Given the description of an element on the screen output the (x, y) to click on. 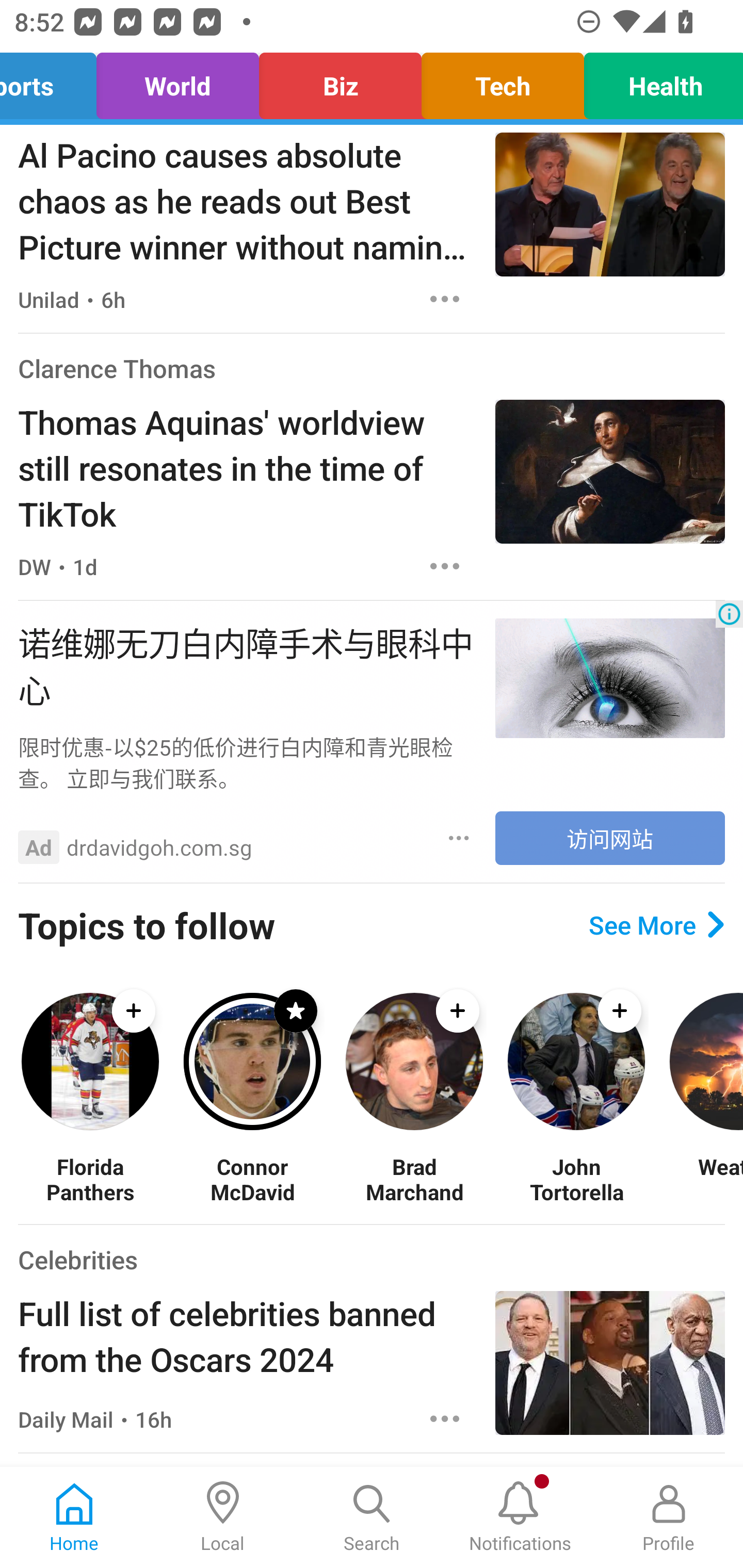
World (177, 81)
Biz (340, 81)
Tech (502, 81)
Health (658, 81)
Options (444, 299)
Clarence Thomas (116, 368)
Options (444, 566)
Ad Choices Icon (729, 613)
诺维娜无刀白内障手术与眼科中心 (247, 664)
限时优惠-以$25的低价进行白内障和青光眼检查。 立即与我们联系。 (247, 761)
访问网站 (610, 837)
Options (459, 838)
drdavidgoh.com.sg (159, 847)
See More (656, 924)
Florida Panthers (89, 1178)
Connor McDavid (251, 1178)
Brad Marchand (413, 1178)
John Tortorella (575, 1178)
Celebrities (77, 1258)
Options (444, 1418)
Local (222, 1517)
Search (371, 1517)
Notifications, New notification Notifications (519, 1517)
Profile (668, 1517)
